Given the description of an element on the screen output the (x, y) to click on. 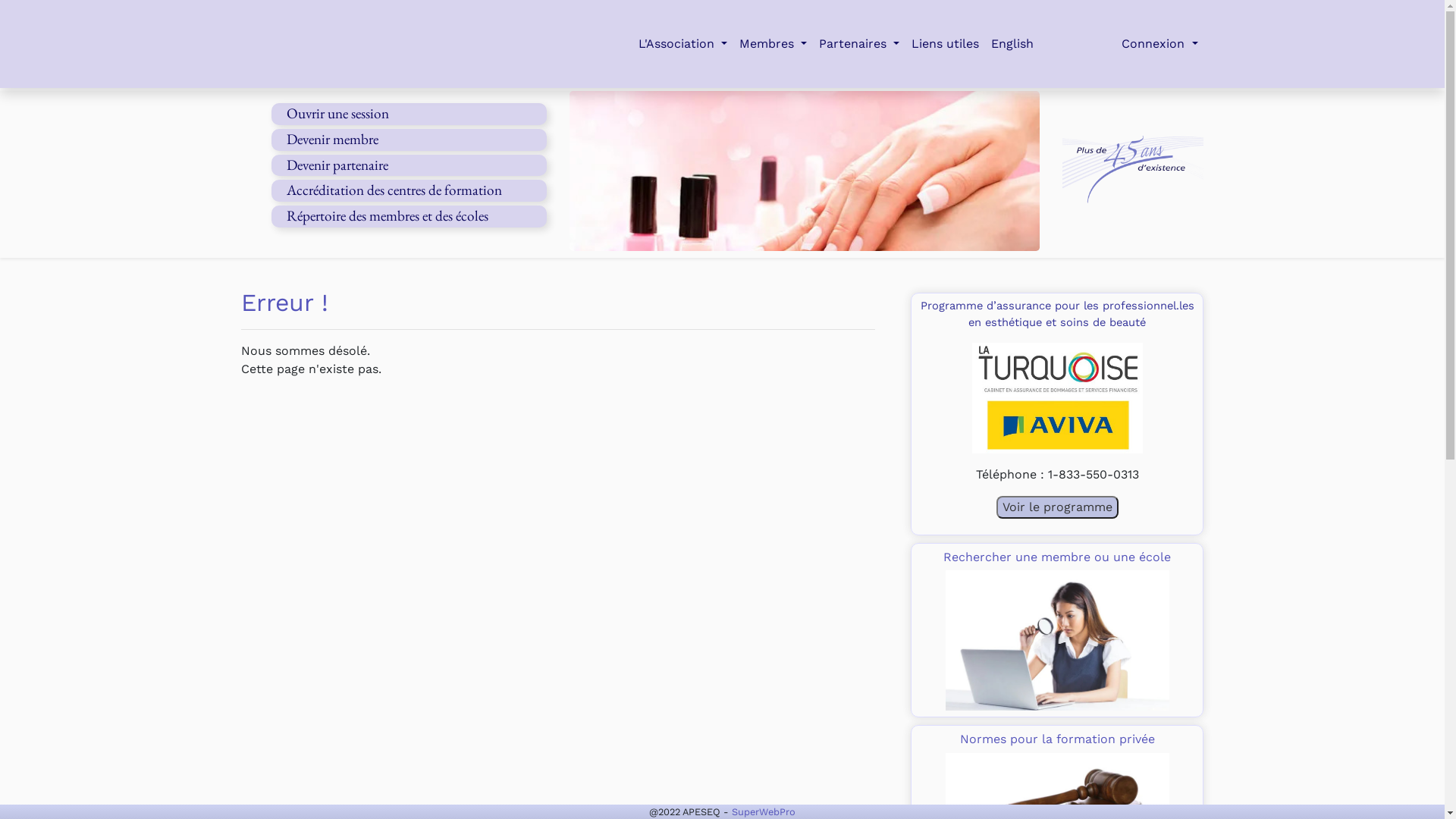
Voir le programme Element type: text (1057, 506)
  Element type: text (392, 43)
Partenaires Element type: text (858, 43)
Membres Element type: text (772, 43)
Ouvrir une session Element type: text (337, 112)
Connexion Element type: text (1159, 43)
Devenir membre Element type: text (332, 138)
Devenir partenaire Element type: text (337, 164)
SuperWebPro Element type: text (763, 811)
Liens utiles Element type: text (945, 43)
Voir le programme Element type: text (1057, 506)
L'Association Element type: text (682, 43)
English Element type: text (1012, 43)
